Given the description of an element on the screen output the (x, y) to click on. 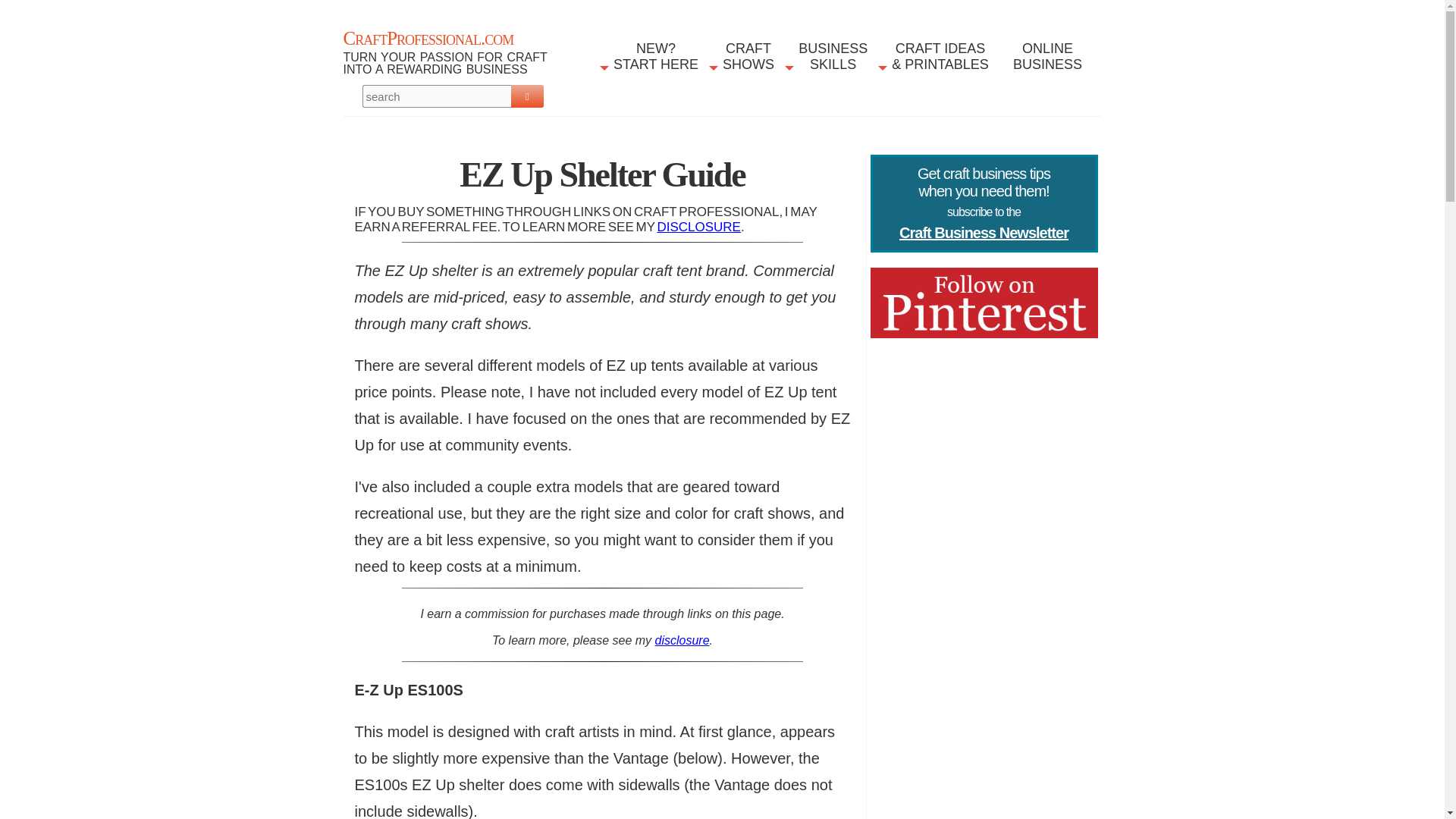
Craft Business Newsletter (983, 232)
Follow on Pinterest (983, 302)
CraftProfessional.com (427, 37)
DISCLOSURE (1043, 66)
disclosure (698, 227)
